Given the description of an element on the screen output the (x, y) to click on. 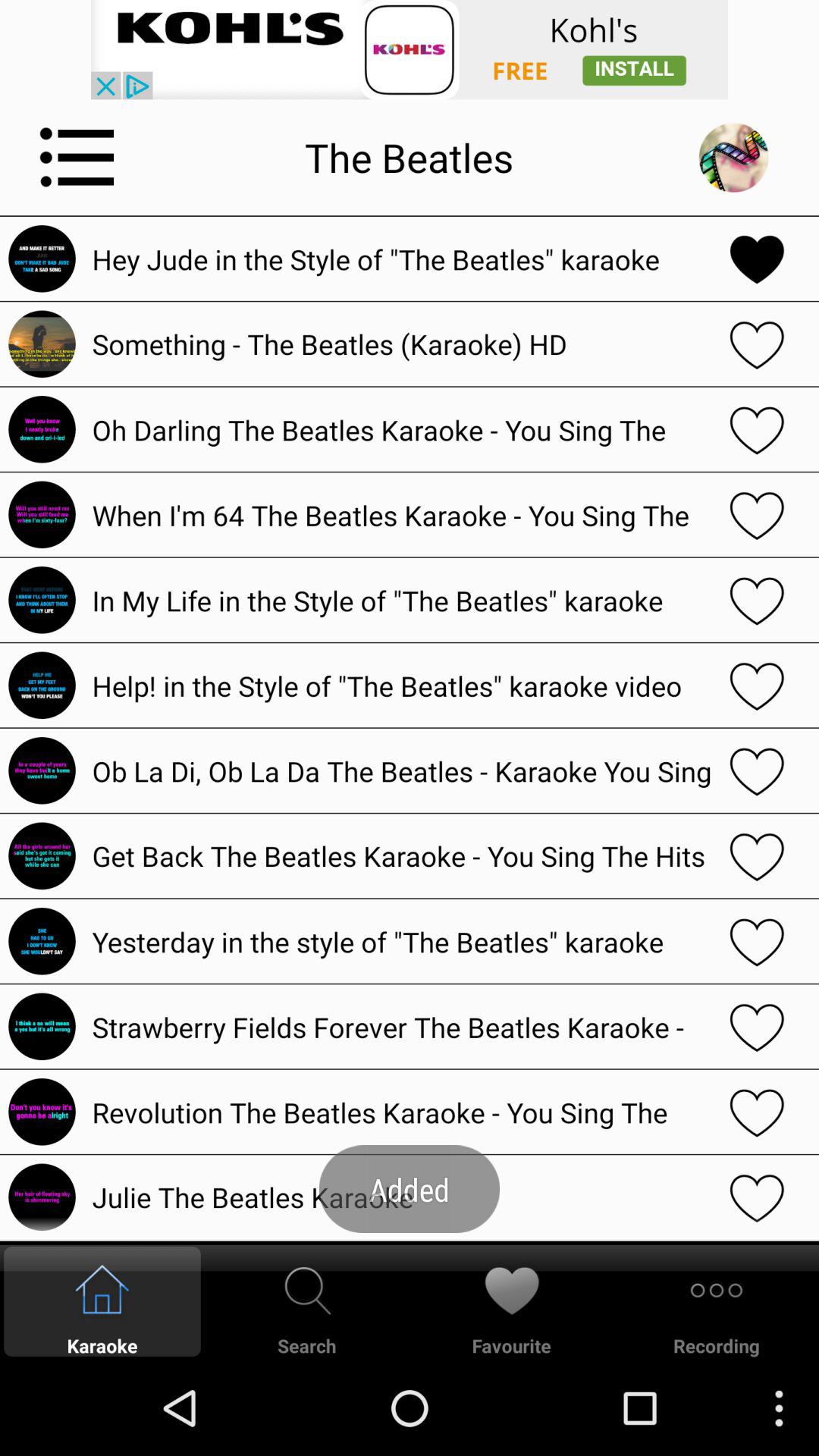
heart favorite button for when i 'm 64 the beatles karaoke you sing the (756, 514)
